Given the description of an element on the screen output the (x, y) to click on. 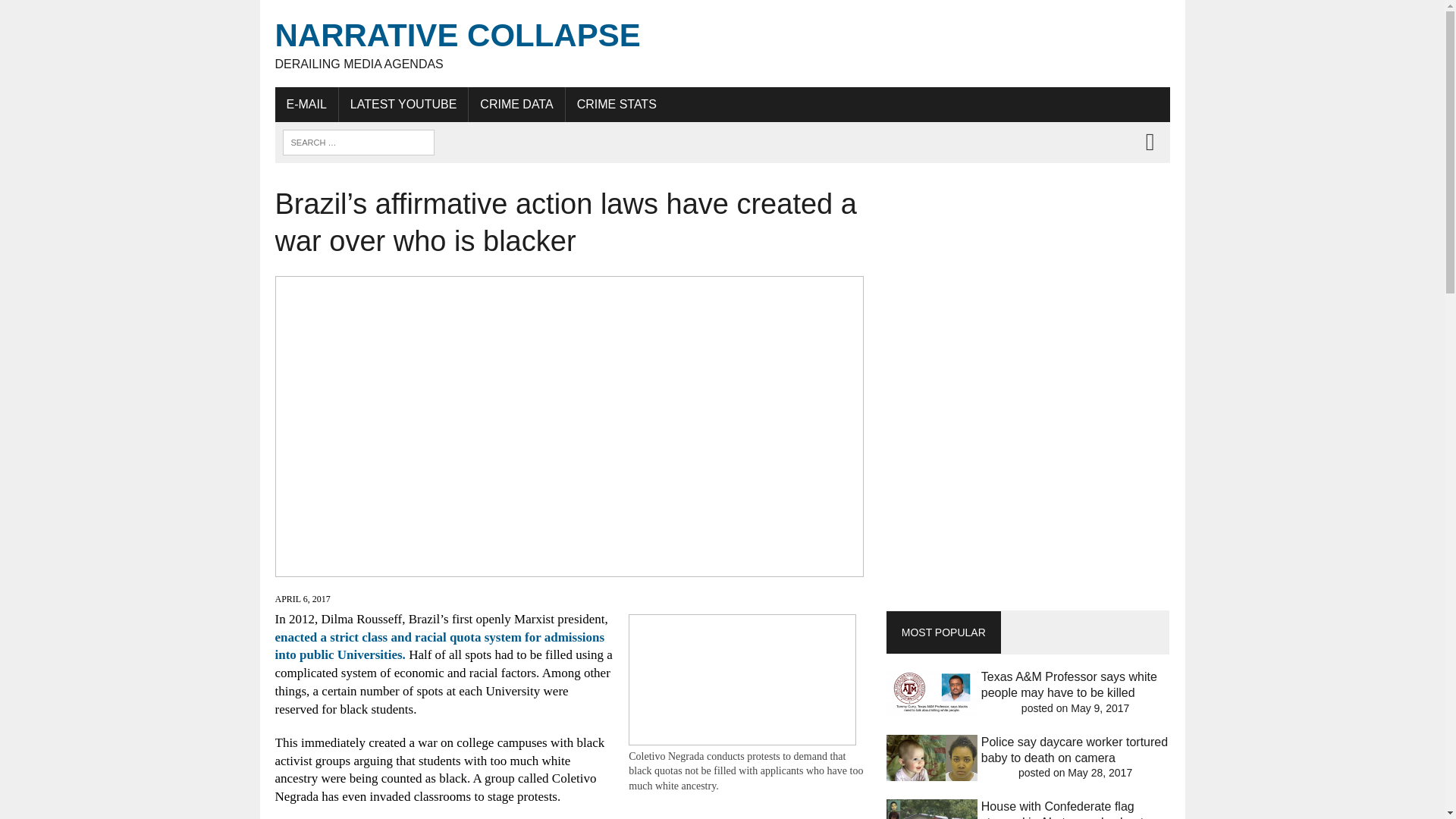
Police say daycare worker tortured baby to death on camera (1074, 749)
Police say daycare worker tortured baby to death on camera (722, 43)
CRIME STATS (1074, 749)
Narrative Collapse (617, 104)
Search (722, 43)
LATEST YOUTUBE (75, 14)
E-MAIL (403, 104)
CRIME DATA (306, 104)
